Given the description of an element on the screen output the (x, y) to click on. 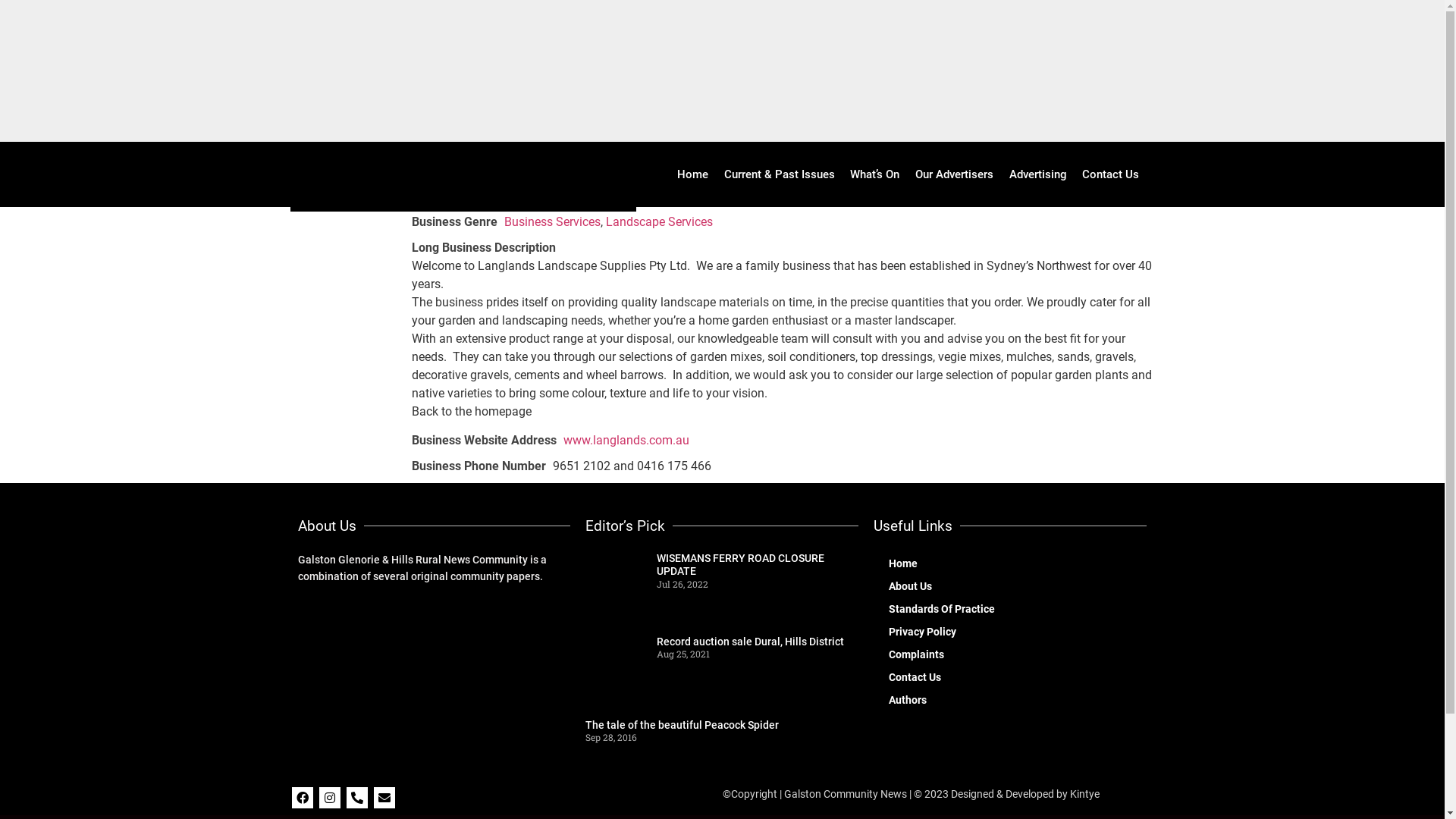
Business Services Element type: text (551, 221)
Contact Us Element type: text (1110, 173)
Langlands Landscaping Supplies Element type: hover (346, 222)
The tale of the beautiful Peacock Spider Element type: text (681, 724)
Contact Us Element type: text (1009, 676)
About Us Element type: text (1009, 585)
Home Element type: text (692, 173)
Advertising Element type: text (1037, 173)
Return to Directory Element type: text (332, 183)
Landscape Services Element type: text (658, 221)
WISEMANS FERRY ROAD CLOSURE UPDATE Element type: text (740, 564)
Our Advertisers Element type: text (954, 173)
www.langlands.com.au Element type: text (625, 440)
Standards Of Practice Element type: text (1009, 608)
Privacy Policy Element type: text (1009, 631)
Authors Element type: text (1009, 699)
Record auction sale Dural, Hills District Element type: text (750, 641)
Complaints Element type: text (1009, 654)
Home Element type: text (1009, 563)
Current & Past Issues Element type: text (778, 173)
